Given the description of an element on the screen output the (x, y) to click on. 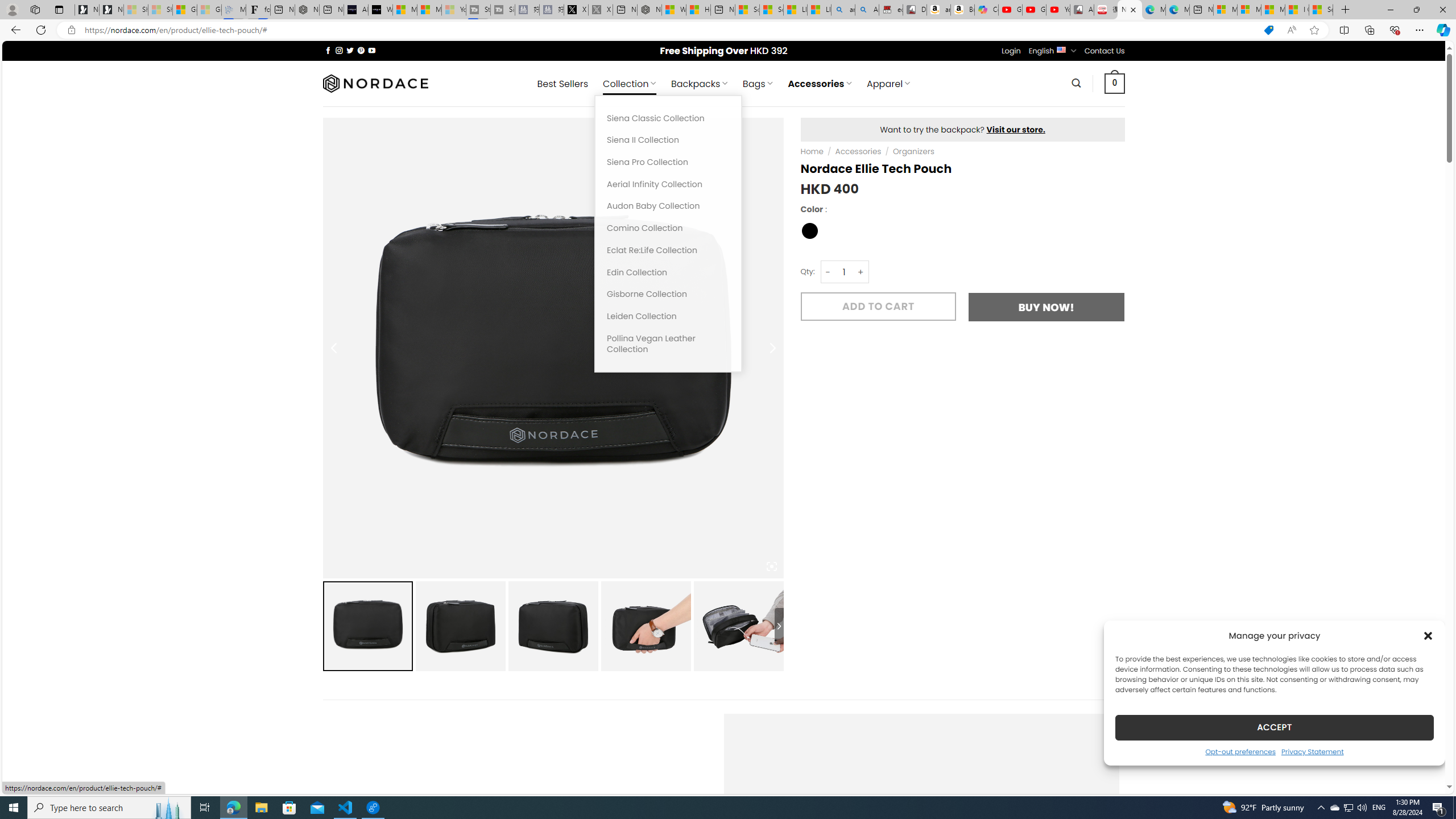
Nordace Ellie Tech Pouch quantity (843, 272)
Browser essentials (1394, 29)
Search (1076, 83)
Class: cmplz-close (1428, 635)
Follow on YouTube (371, 49)
Nordace Ellie Tech Pouch (1129, 9)
  Best Sellers (562, 83)
Collections (1369, 29)
  0   (1115, 83)
Eclat Re:Life Collection (668, 250)
Pollina Vegan Leather Collection (668, 343)
Workspaces (34, 9)
Follow on Pinterest (360, 49)
